Given the description of an element on the screen output the (x, y) to click on. 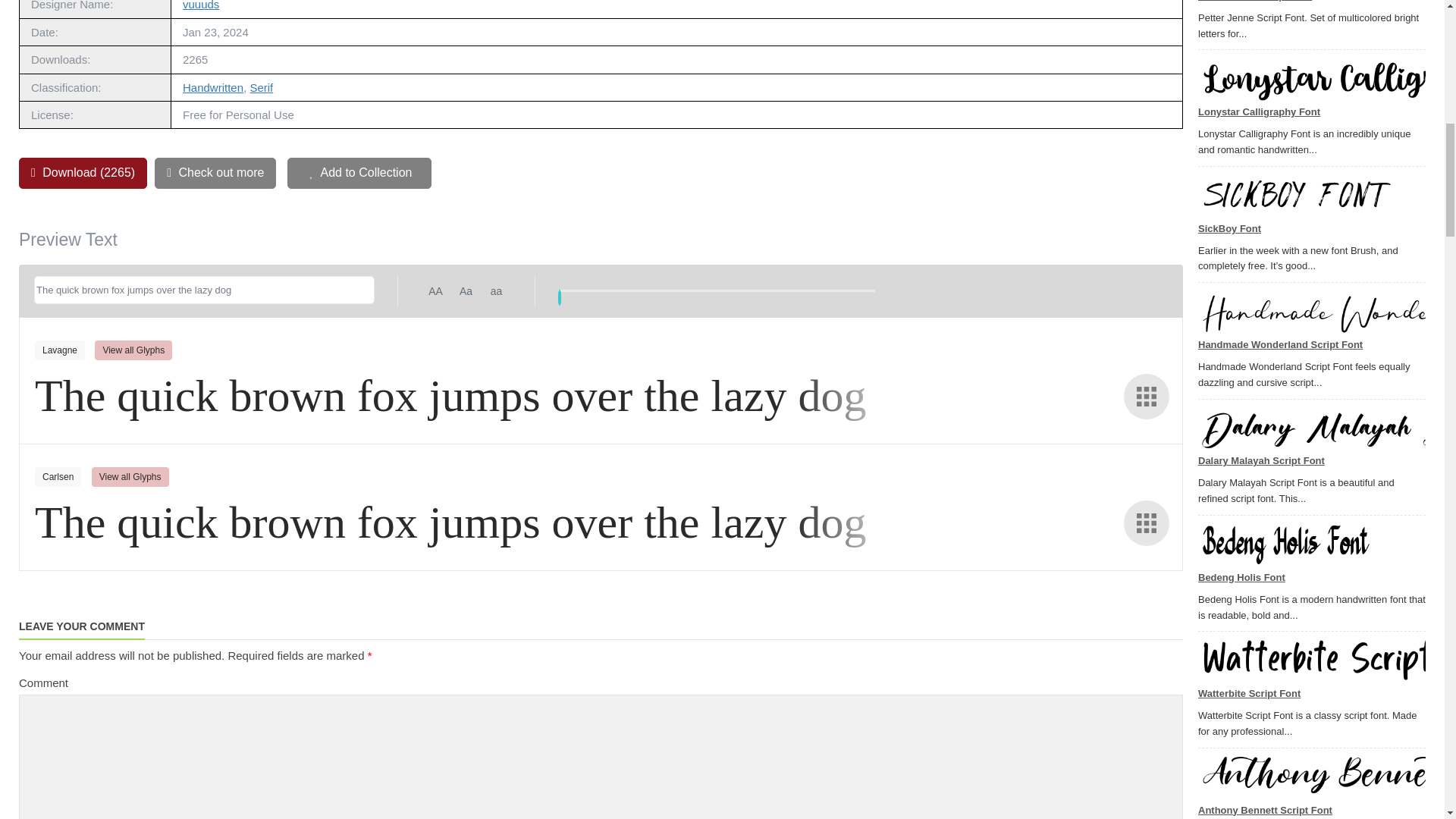
The quick brown fox jumps over the lazy dog (203, 289)
View Characters (1146, 396)
vuuuds (201, 5)
